Given the description of an element on the screen output the (x, y) to click on. 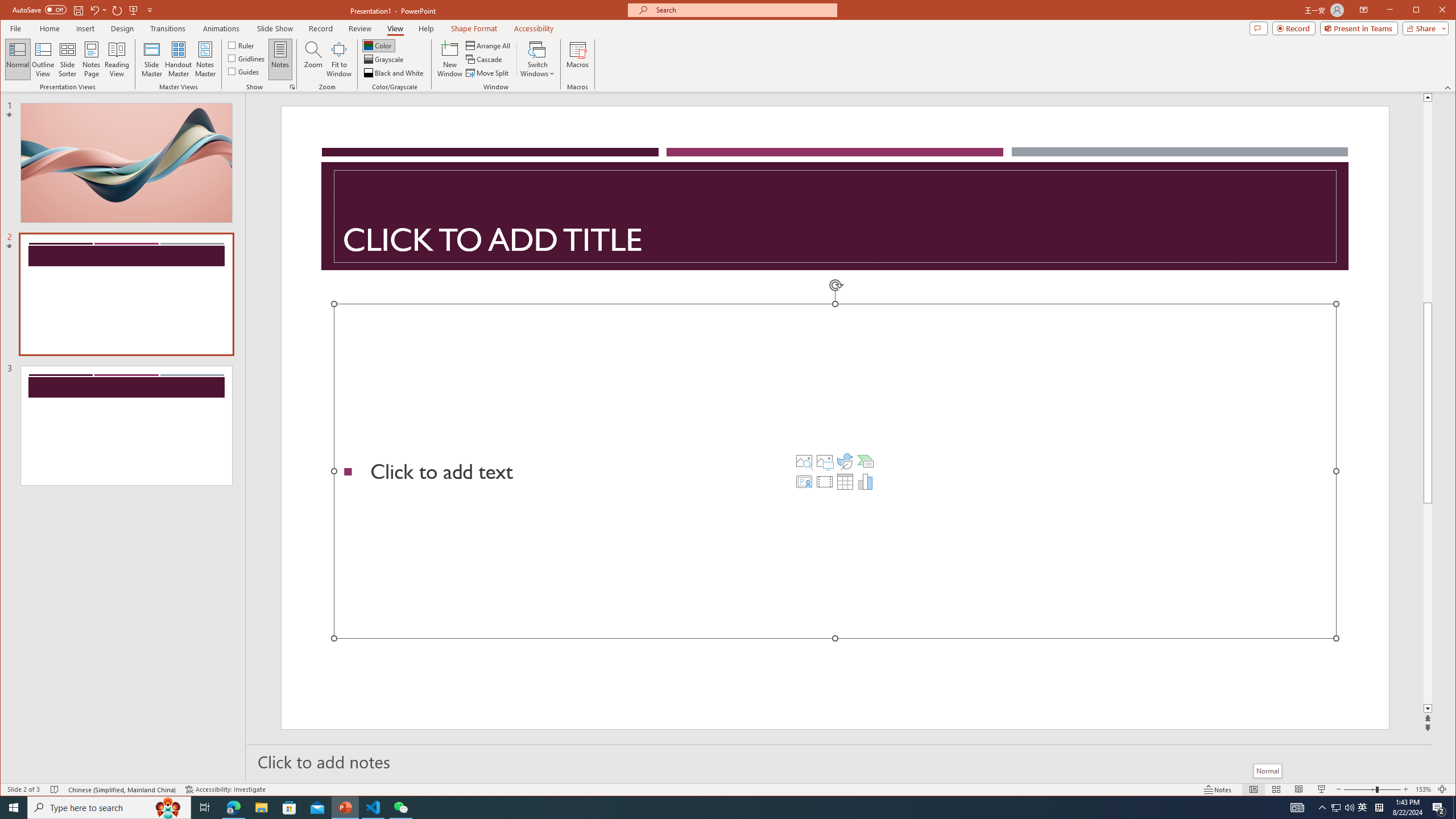
Move Split (488, 72)
Fit to Window (338, 59)
Zoom... (312, 59)
Grid Settings... (292, 86)
Notes Page (91, 59)
Black and White (394, 72)
Notes Master (204, 59)
